Given the description of an element on the screen output the (x, y) to click on. 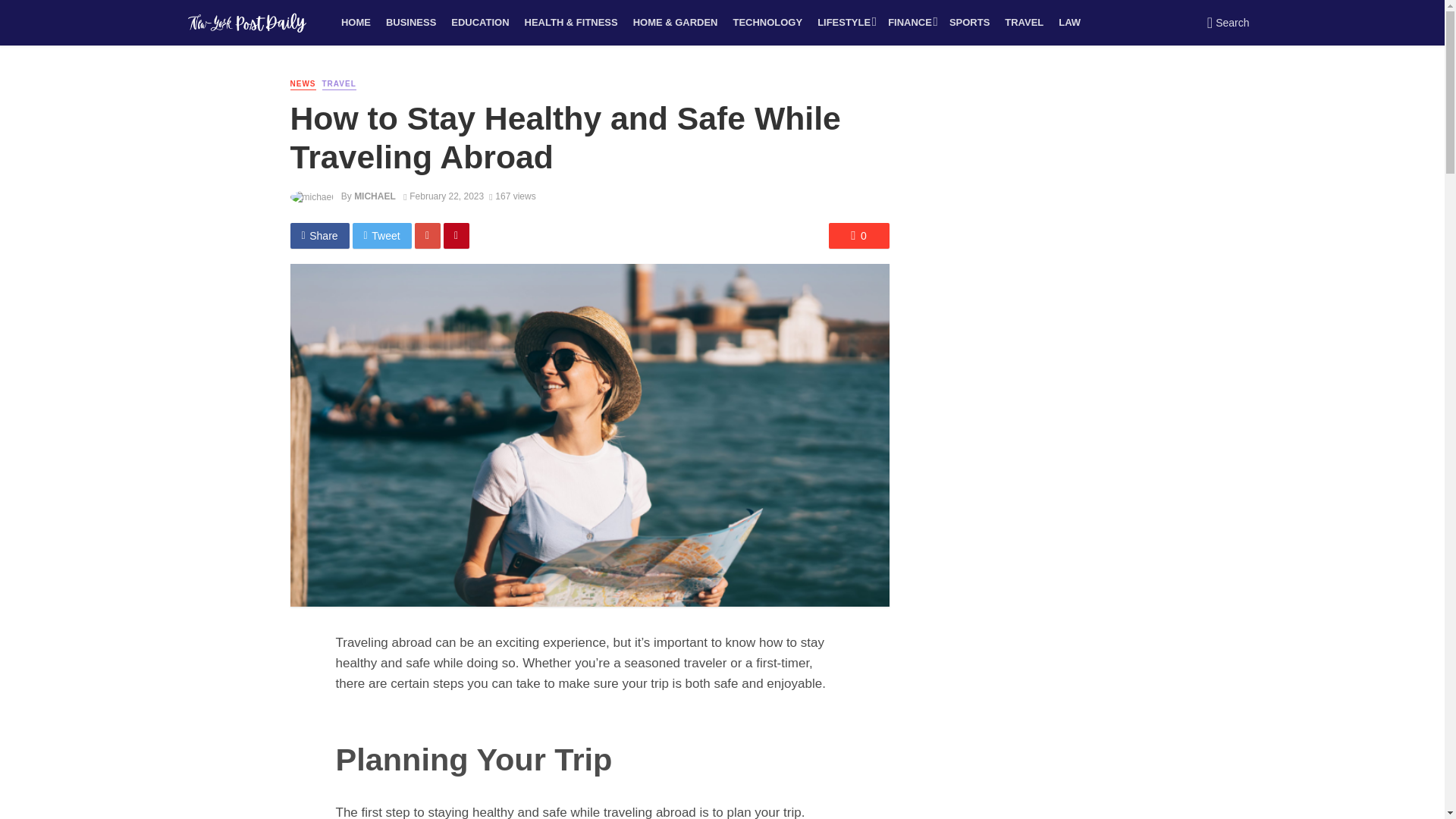
Search (1228, 22)
NEWS (302, 84)
FINANCE (911, 22)
February 22, 2023 at 5:49 am (443, 195)
Share on Pinterest (456, 235)
MICHAEL (374, 195)
Share on Facebook (319, 235)
TRAVEL (1024, 22)
BUSINESS (411, 22)
TECHNOLOGY (767, 22)
